Given the description of an element on the screen output the (x, y) to click on. 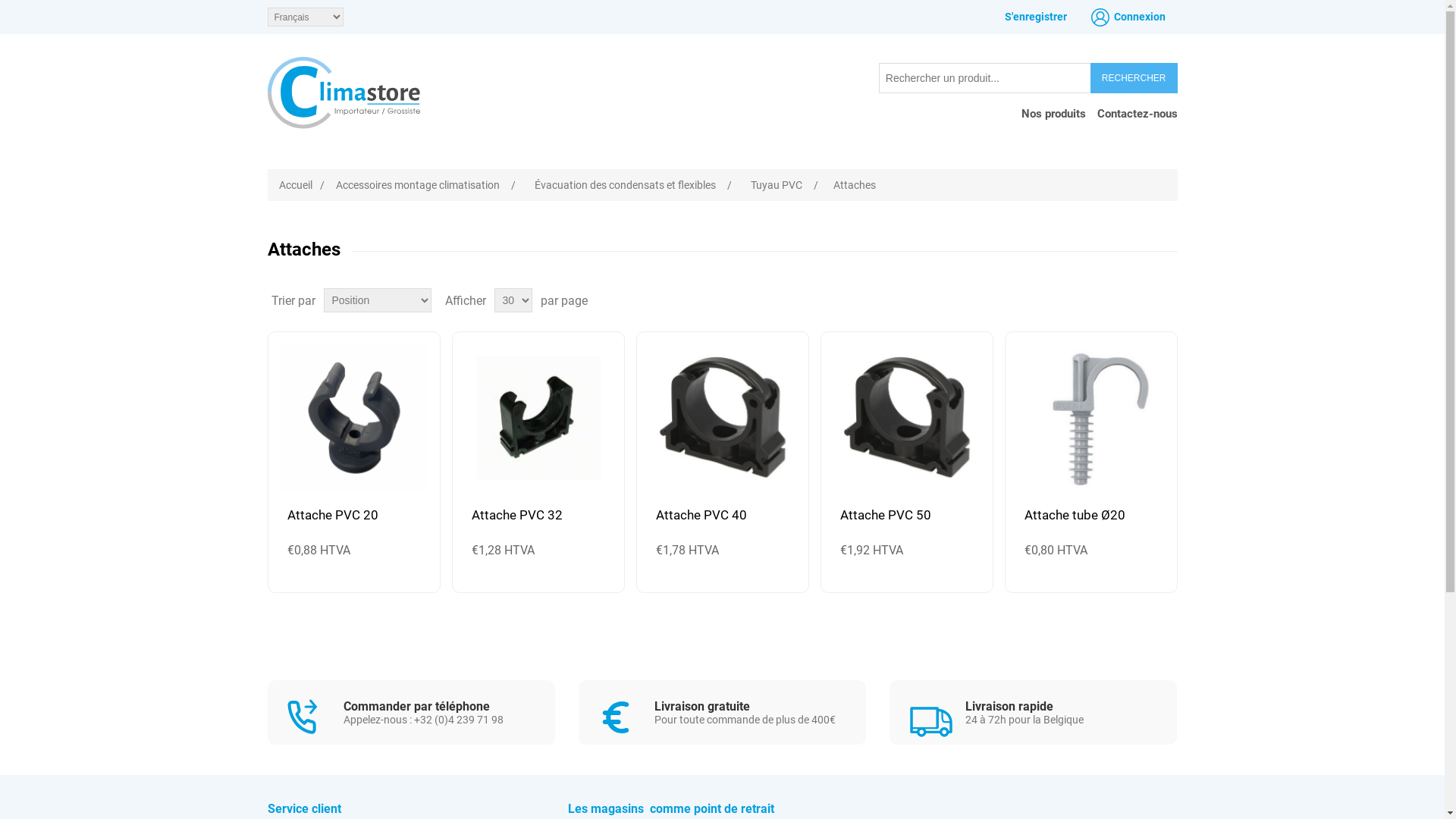
Accessoires montage climatisation Element type: text (417, 184)
Tuyau PVC Element type: text (775, 184)
Agrandir l'image de 'Attache PVC 40' Element type: hover (721, 417)
S'enregistrer Element type: text (1035, 17)
Attache PVC 32 Element type: text (538, 514)
Agrandir l'image de 'Attache PVC 20' Element type: hover (353, 417)
Attache PVC 40 Element type: text (721, 514)
Attache PVC 50 Element type: text (906, 514)
Attache PVC 20 Element type: text (353, 514)
Agrandir l'image de 'Attache PVC 32' Element type: hover (538, 417)
RECHERCHER Element type: text (1133, 77)
Contactez-nous Element type: text (1136, 115)
Agrandir l'image de 'Attache PVC 50' Element type: hover (906, 417)
Connexion Element type: text (1127, 17)
Agrandir l'image de 'Attache PVC 50' Element type: hover (906, 417)
Accueil Element type: text (295, 184)
Agrandir l'image de 'Attache PVC 40' Element type: hover (721, 417)
Nos produits Element type: text (1052, 115)
